Given the description of an element on the screen output the (x, y) to click on. 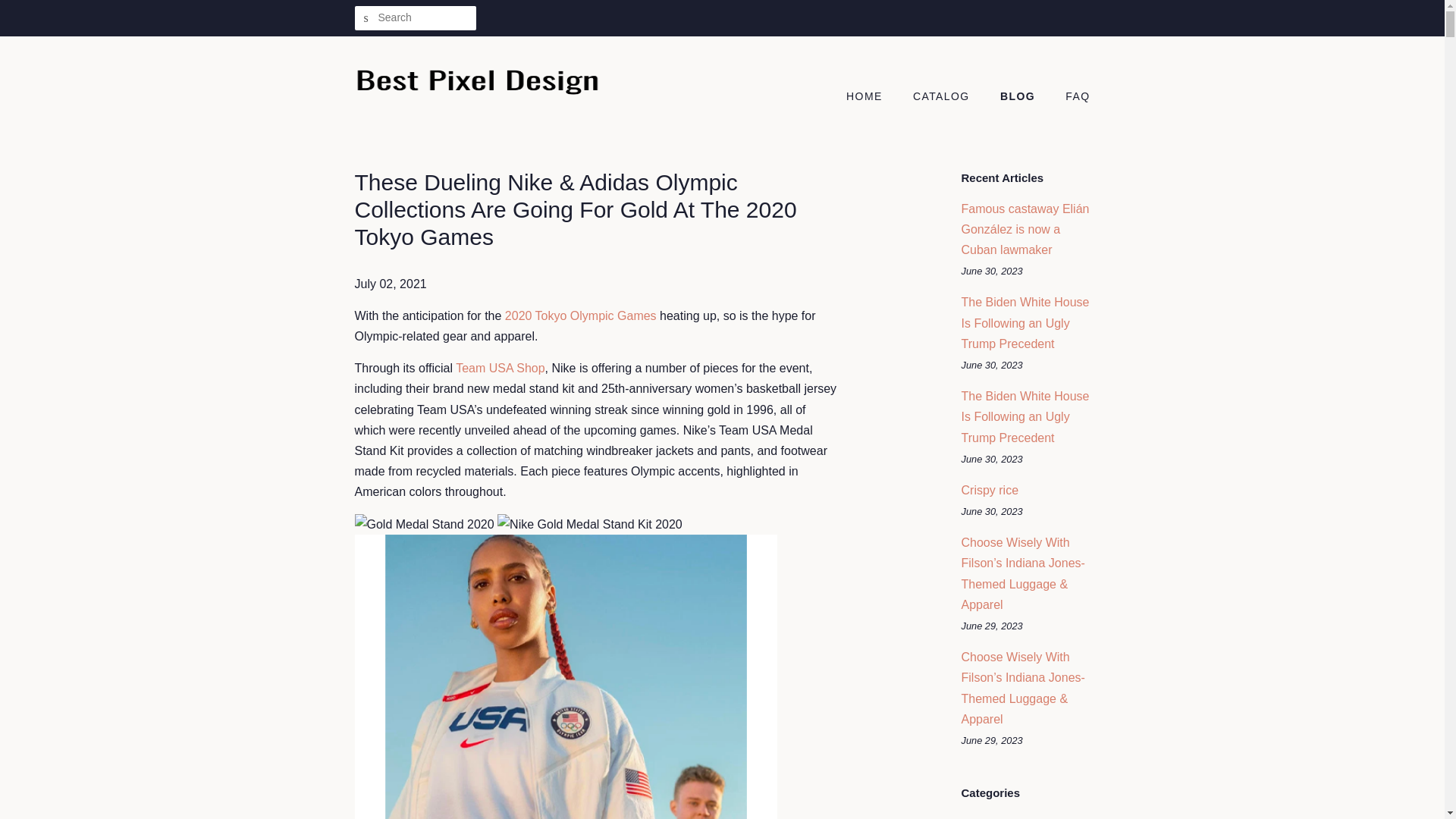
2020 Tokyo Olympic Games (580, 315)
Team USA Shop (499, 367)
CATALOG (943, 96)
BLOG (1018, 96)
Crispy rice (989, 490)
The Biden White House Is Following an Ugly Trump Precedent (1024, 416)
FAQ (1071, 96)
HOME (871, 96)
Show articles tagged 019 (970, 818)
SEARCH (366, 18)
The Biden White House Is Following an Ugly Trump Precedent (1024, 322)
